Given the description of an element on the screen output the (x, y) to click on. 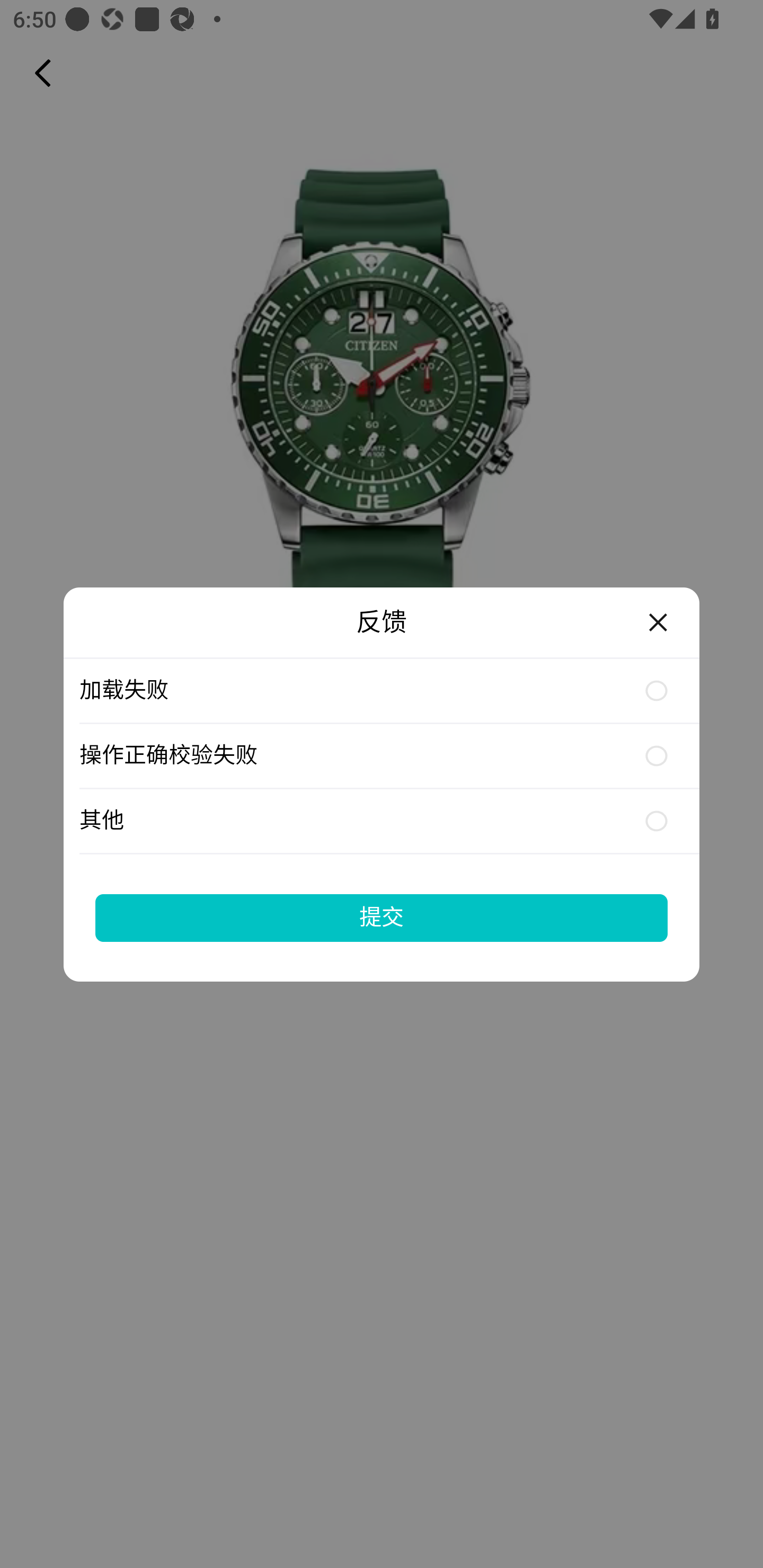
提交 (381, 917)
